Given the description of an element on the screen output the (x, y) to click on. 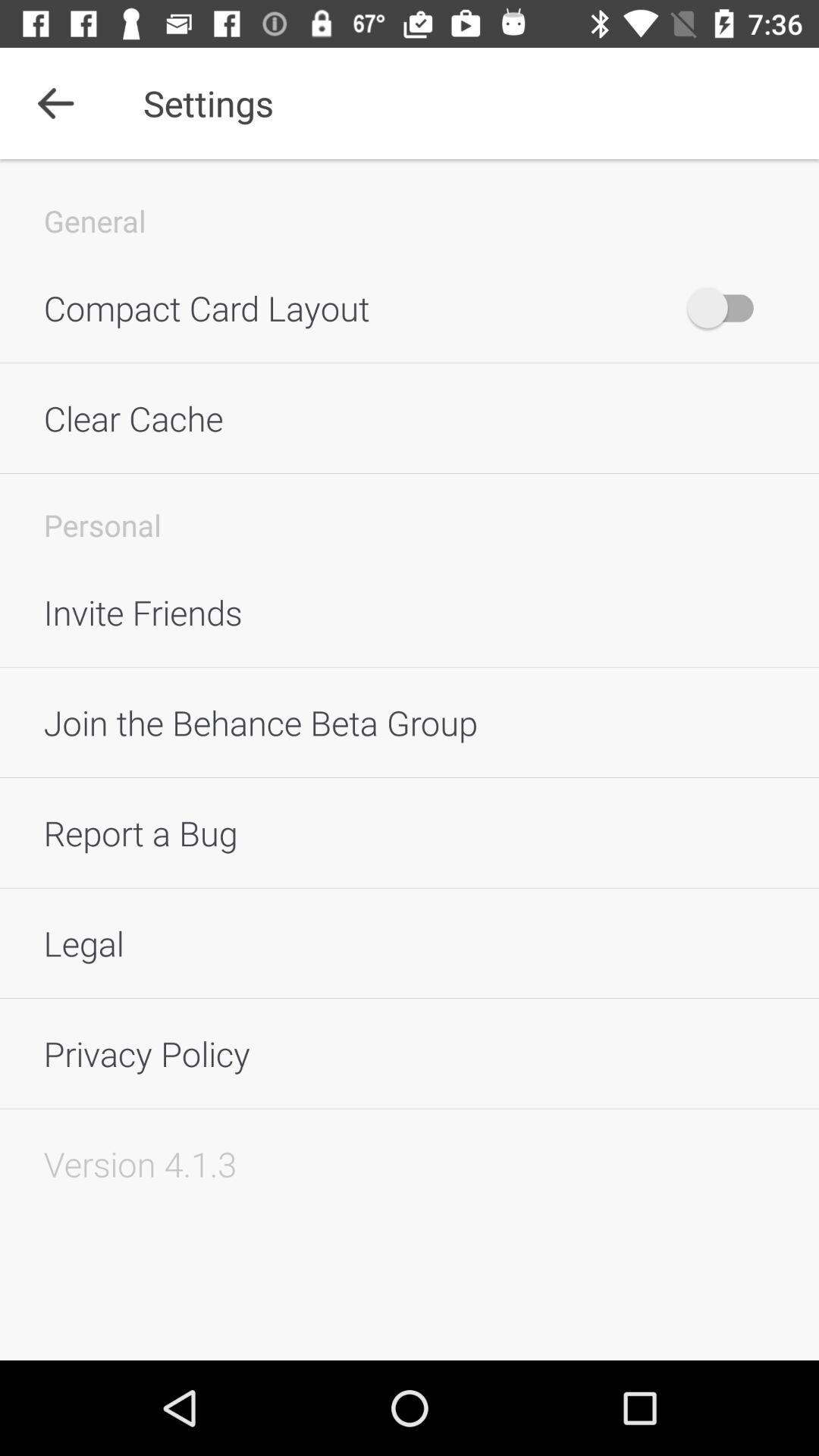
tap the icon to the right of the compact card layout (727, 307)
